Given the description of an element on the screen output the (x, y) to click on. 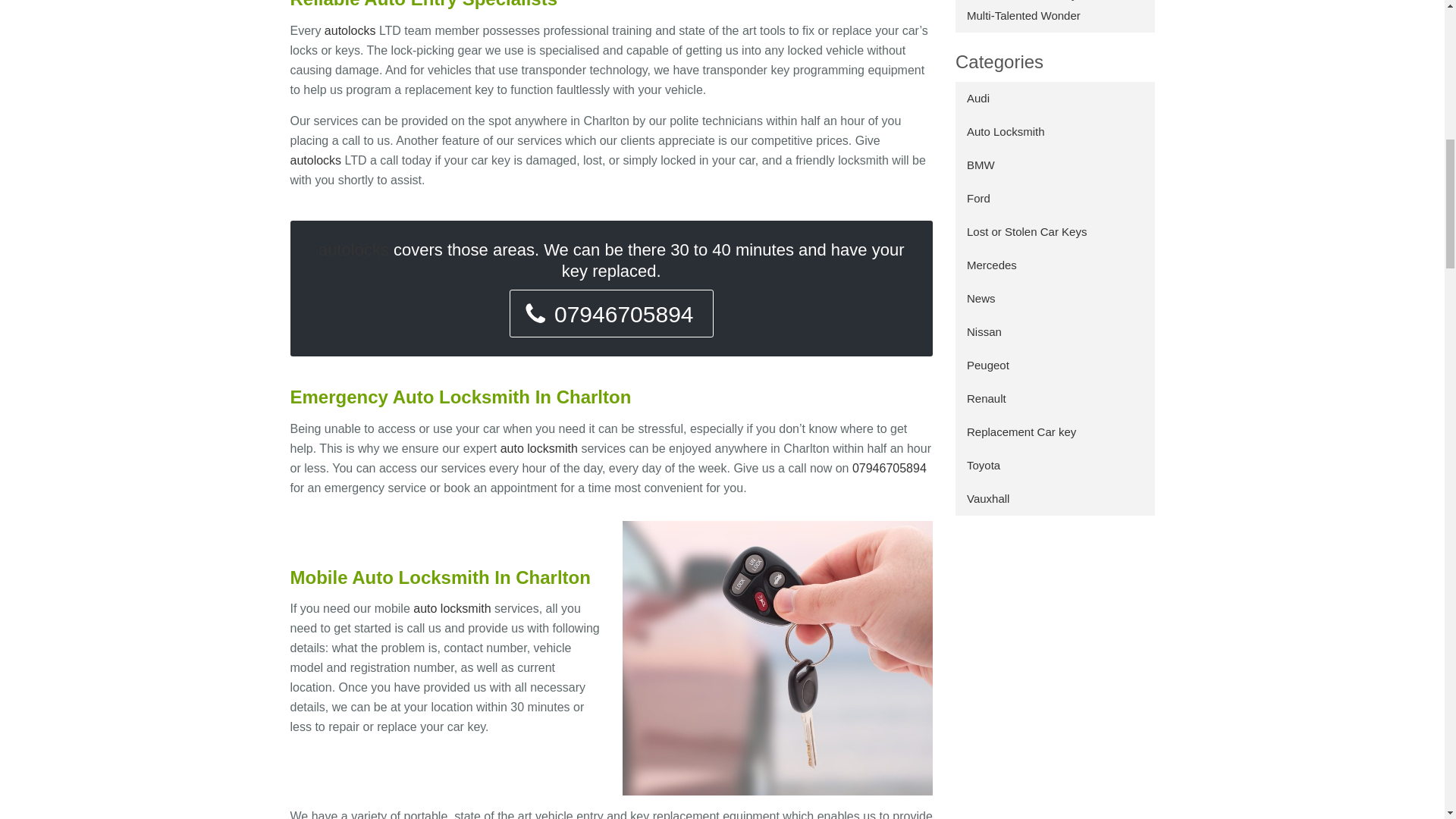
autolocks (314, 160)
autolocks (353, 249)
auto locksmith (451, 608)
autolocks (349, 30)
auto locksmith (539, 448)
